Given the description of an element on the screen output the (x, y) to click on. 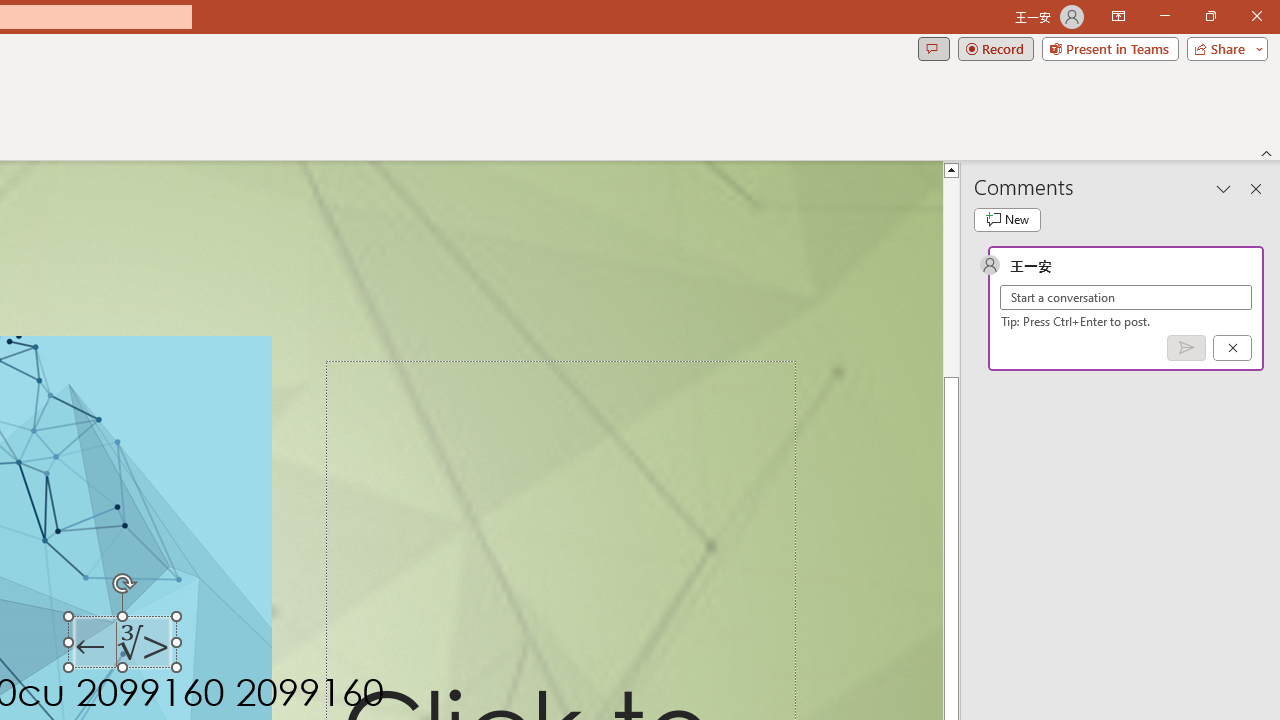
Post comment (Ctrl + Enter) (1186, 347)
TextBox 7 (123, 645)
Cancel (1232, 347)
